Given the description of an element on the screen output the (x, y) to click on. 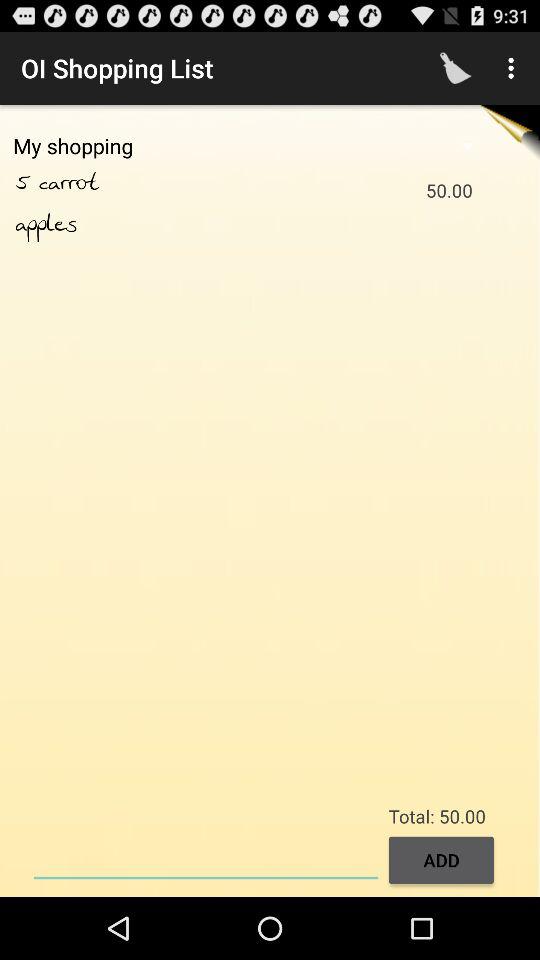
launch icon below the total: 50.00 item (205, 858)
